Given the description of an element on the screen output the (x, y) to click on. 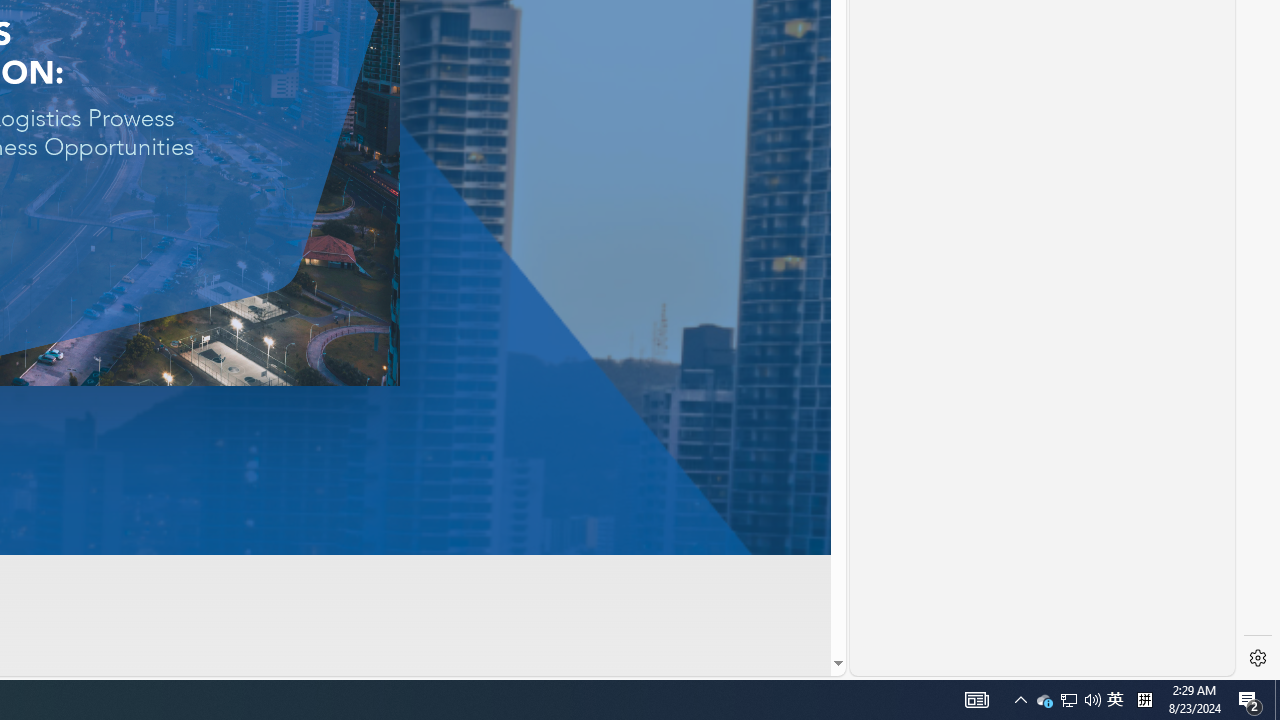
Class: slide_out_area_close (930, 13)
